Given the description of an element on the screen output the (x, y) to click on. 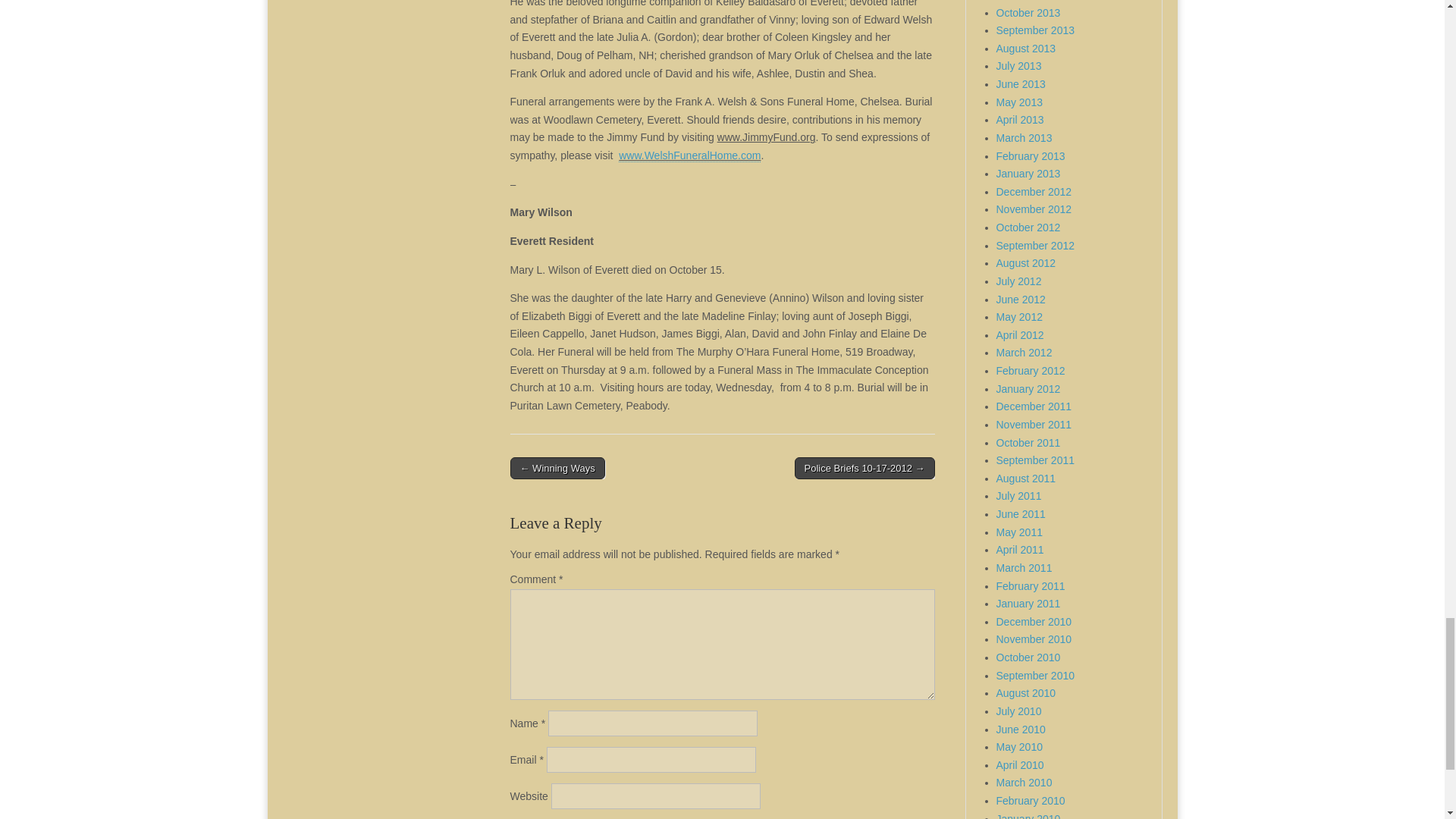
www.WelshFuneralHome.com (689, 155)
